Given the description of an element on the screen output the (x, y) to click on. 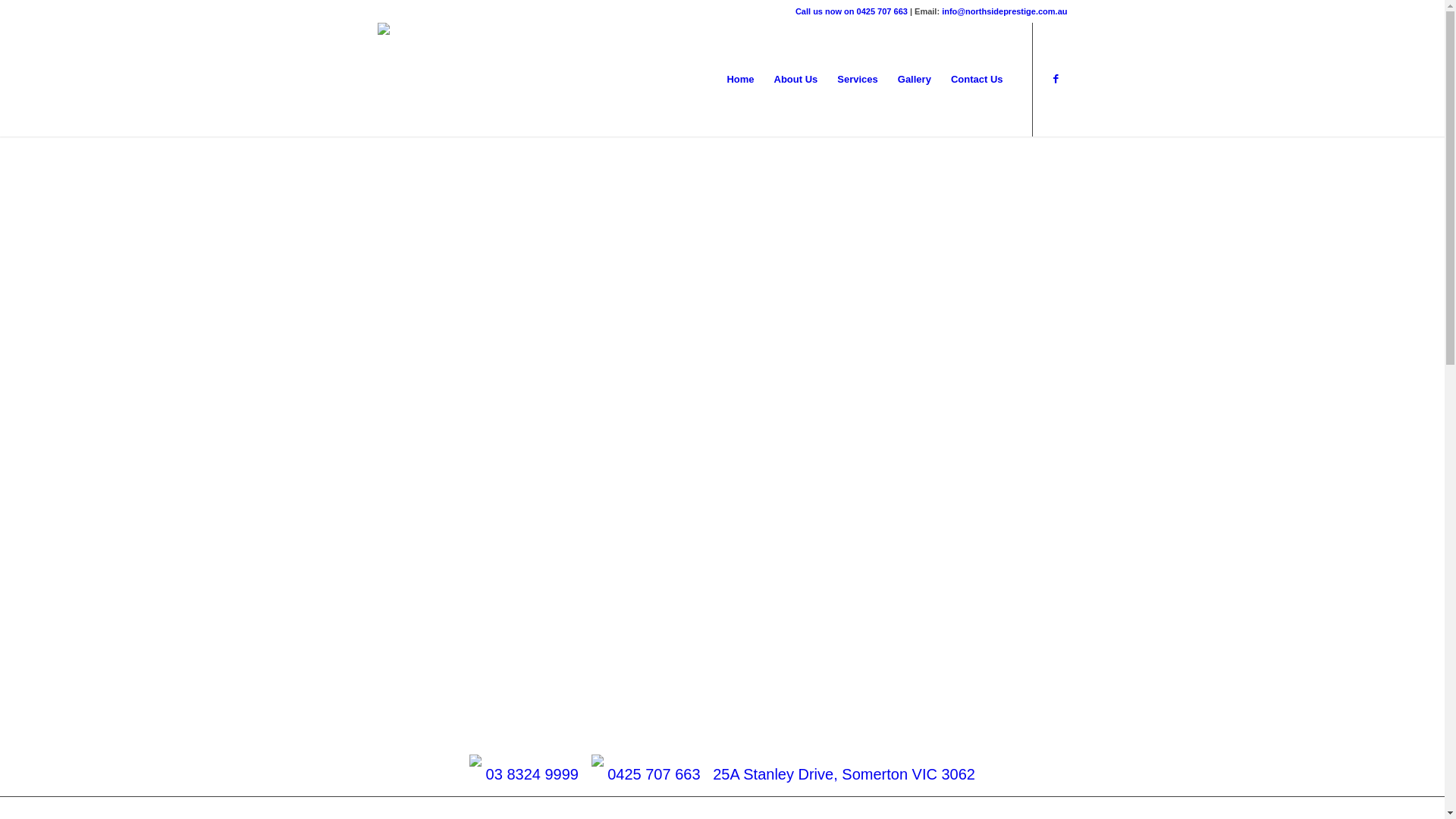
Call us now on 0425 707 663 Element type: text (851, 10)
25A Stanley Drive, Somerton VIC 3062 Element type: text (843, 773)
Facebook Element type: hover (1055, 78)
Home Element type: text (739, 79)
info@northsideprestige.com.au Element type: text (1003, 10)
03 8324 9999 Element type: text (532, 773)
Services Element type: text (857, 79)
Gallery Element type: text (914, 79)
Contact Us Element type: text (977, 79)
About Us Element type: text (796, 79)
0425 707 663 Element type: text (653, 773)
